Given the description of an element on the screen output the (x, y) to click on. 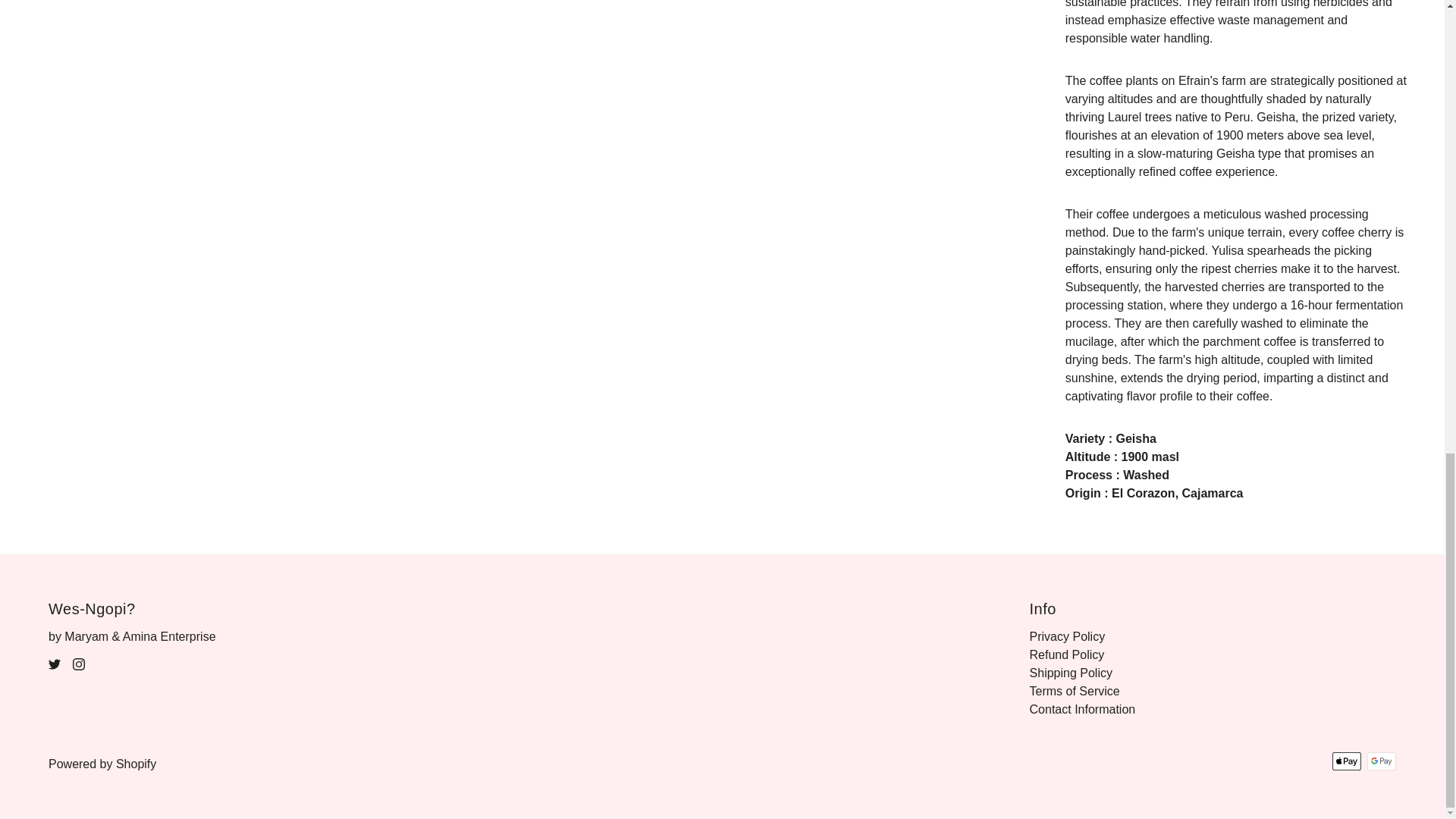
Contact Information (1082, 708)
Shipping Policy (1070, 672)
Google Pay (1381, 761)
Privacy Policy (1067, 635)
Shipping Policy (1070, 672)
Privacy Policy (1067, 635)
Apple Pay (1346, 761)
Contact Information (1082, 708)
Terms of Service (1074, 690)
Refund Policy (1067, 654)
Powered by Shopify (101, 763)
Refund Policy (1067, 654)
Terms of Service (1074, 690)
